Given the description of an element on the screen output the (x, y) to click on. 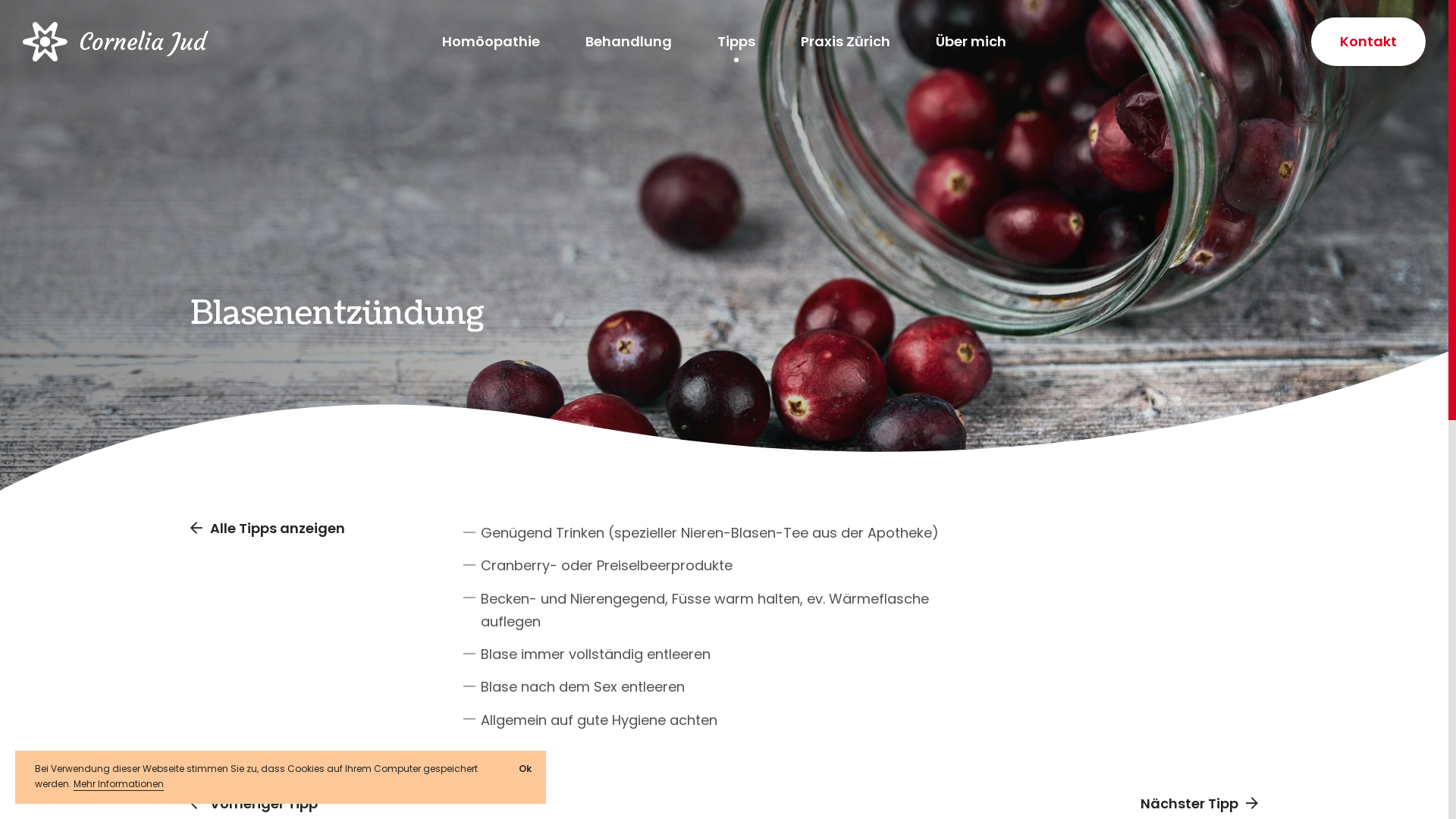
Behandlung Element type: text (628, 41)
Kontakt Element type: text (1368, 41)
Mehr Informationen Element type: text (118, 783)
Alle Tipps anzeigen Element type: text (267, 528)
Tipps Element type: text (736, 41)
